Given the description of an element on the screen output the (x, y) to click on. 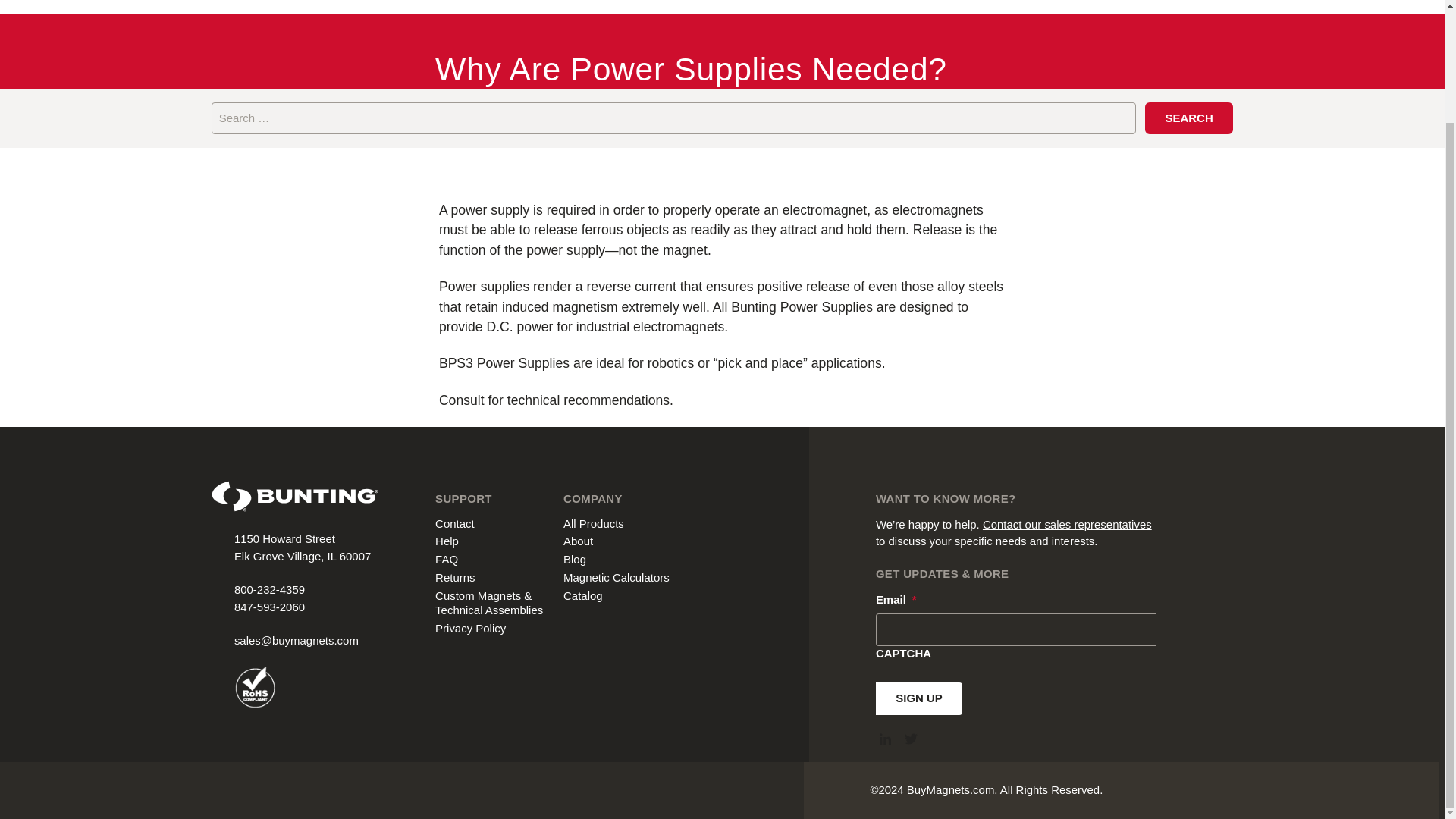
Sign Up (919, 698)
